Given the description of an element on the screen output the (x, y) to click on. 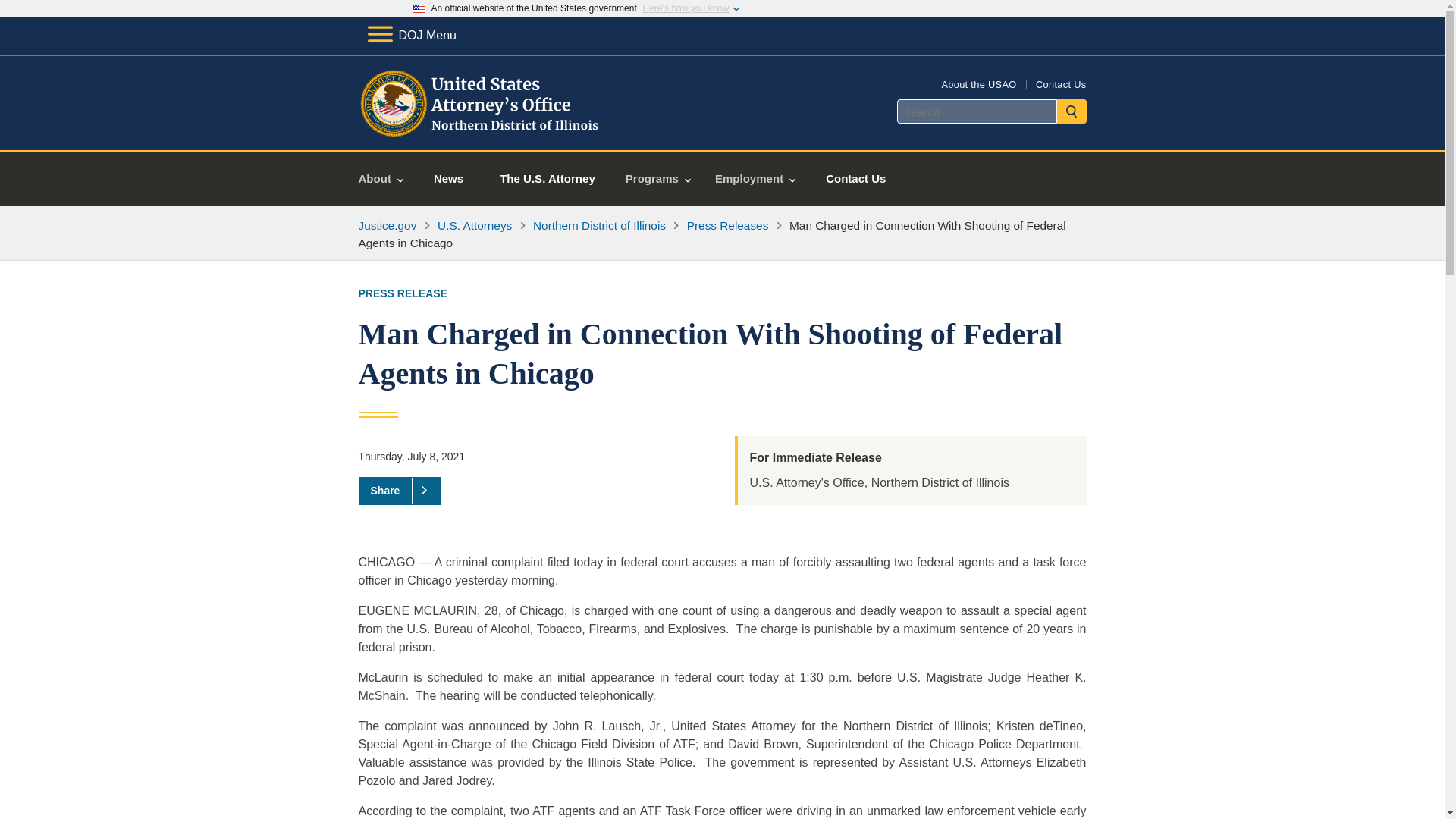
Programs (657, 179)
Here's how you know (686, 8)
Home (481, 132)
About (380, 179)
Contact Us (1060, 84)
Press Releases (727, 225)
Employment (755, 179)
DOJ Menu (411, 35)
About the USAO (978, 84)
Contact Us (856, 179)
